Given the description of an element on the screen output the (x, y) to click on. 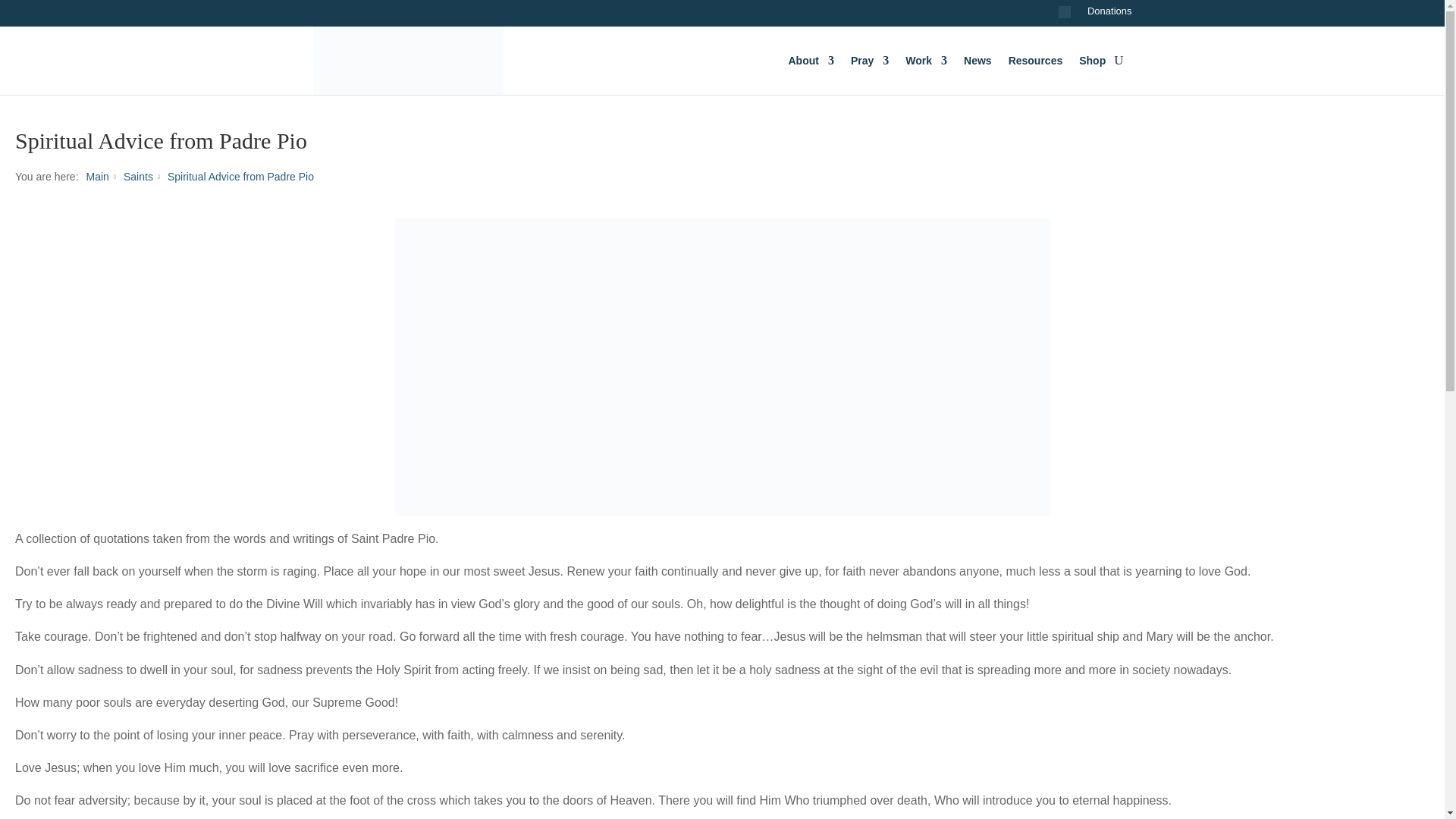
Donations (1109, 15)
Donations (1109, 15)
Main (97, 176)
Saints (137, 176)
